Given the description of an element on the screen output the (x, y) to click on. 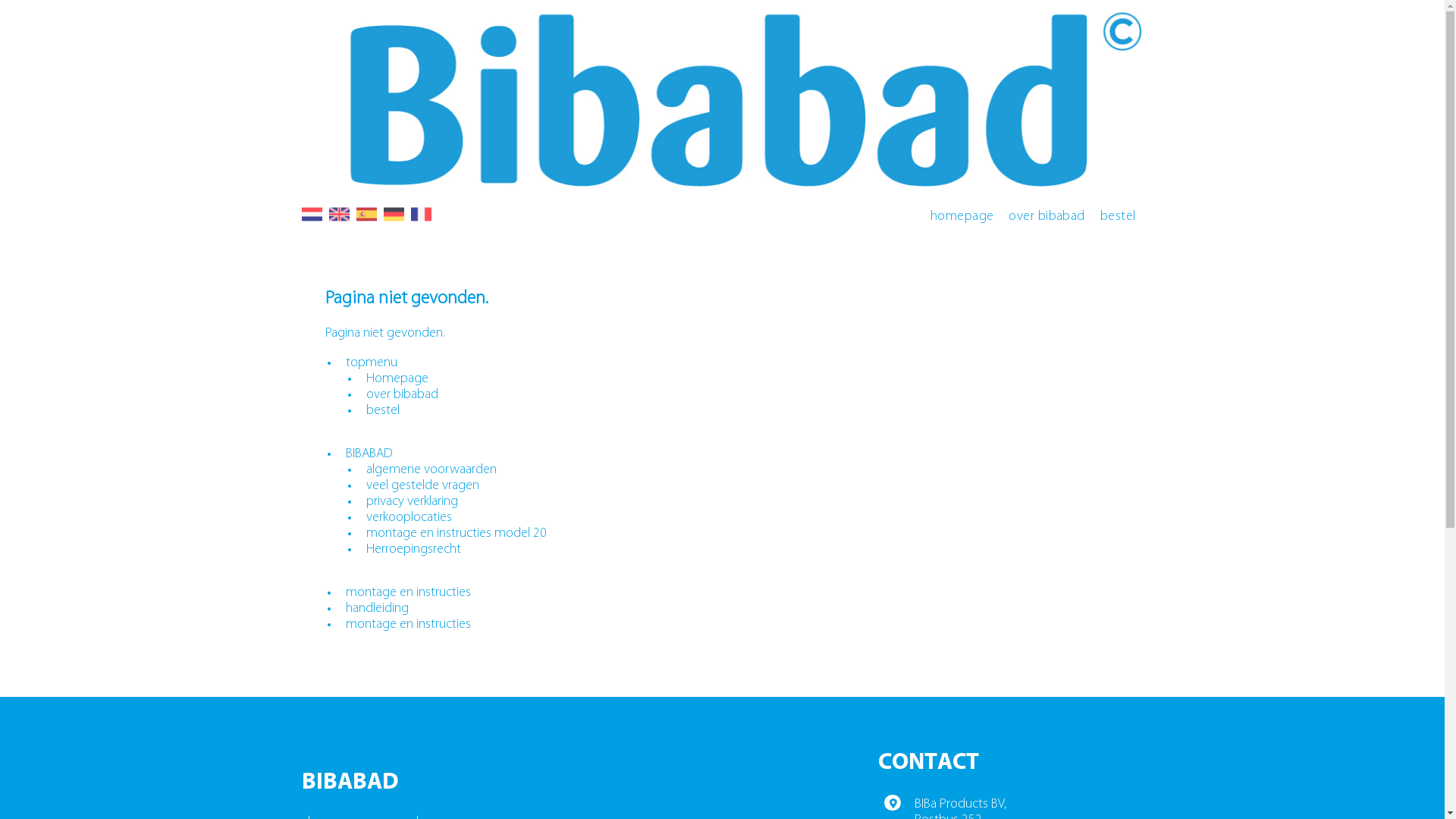
  Element type: text (342, 220)
homepage Element type: text (961, 216)
over bibabad Element type: text (402, 394)
Herroepingsrecht Element type: text (413, 548)
Nederlands Element type: hover (313, 213)
spaans Element type: hover (368, 213)
bestel Element type: text (382, 410)
over bibabad Element type: text (1046, 216)
  Element type: text (315, 220)
montage en instructies model 20 Element type: text (456, 533)
  Element type: text (397, 220)
BIBABAD Element type: text (368, 453)
Duits Element type: hover (395, 213)
montage en instructies Element type: text (407, 592)
montage en instructies Element type: text (407, 624)
algemene voorwaarden Element type: text (431, 469)
verkooplocaties Element type: text (408, 517)
frans Element type: hover (423, 213)
Homepage Element type: text (397, 378)
  Element type: text (424, 220)
Engels Element type: hover (341, 213)
bestel Element type: text (1117, 216)
  Element type: text (369, 220)
privacy verklaring Element type: text (412, 501)
topmenu Element type: text (371, 362)
handleiding Element type: text (376, 608)
veel gestelde vragen Element type: text (422, 485)
